Given the description of an element on the screen output the (x, y) to click on. 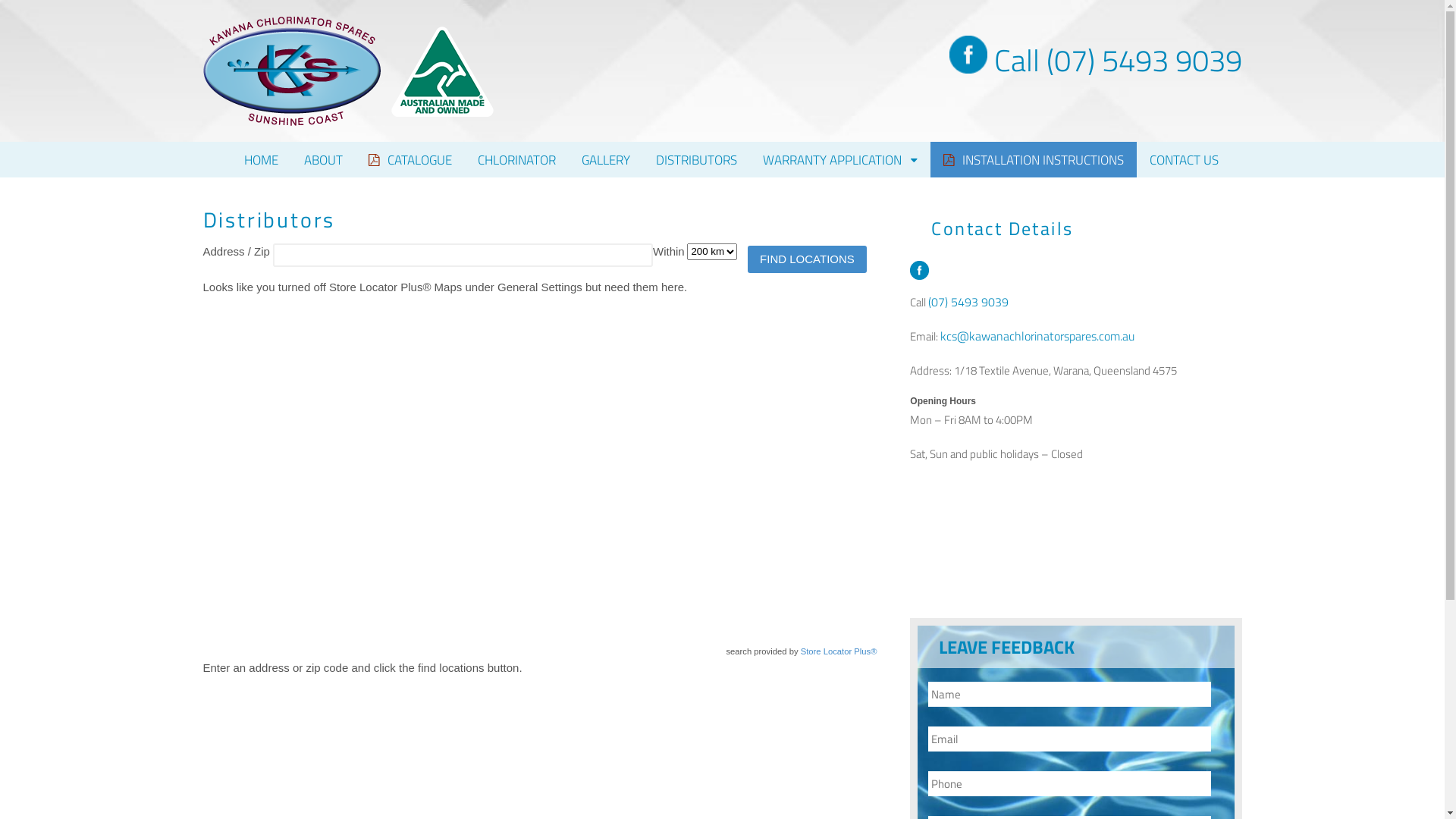
kcs@kawanachlorinatorspares.com.au Element type: text (1037, 335)
(07) 5493 9039 Element type: text (968, 301)
WARRANTY APPLICATION Element type: text (839, 159)
GALLERY Element type: text (605, 159)
ABOUT Element type: text (323, 159)
CHLORINATOR Element type: text (516, 159)
(07) 5493 9039 Element type: text (1144, 60)
INSTALLATION INSTRUCTIONS Element type: text (1032, 159)
CATALOGUE Element type: text (409, 159)
DISTRIBUTORS Element type: text (696, 159)
HOME Element type: text (261, 159)
CONTACT US Element type: text (1182, 159)
Find Locations Element type: text (806, 259)
